Given the description of an element on the screen output the (x, y) to click on. 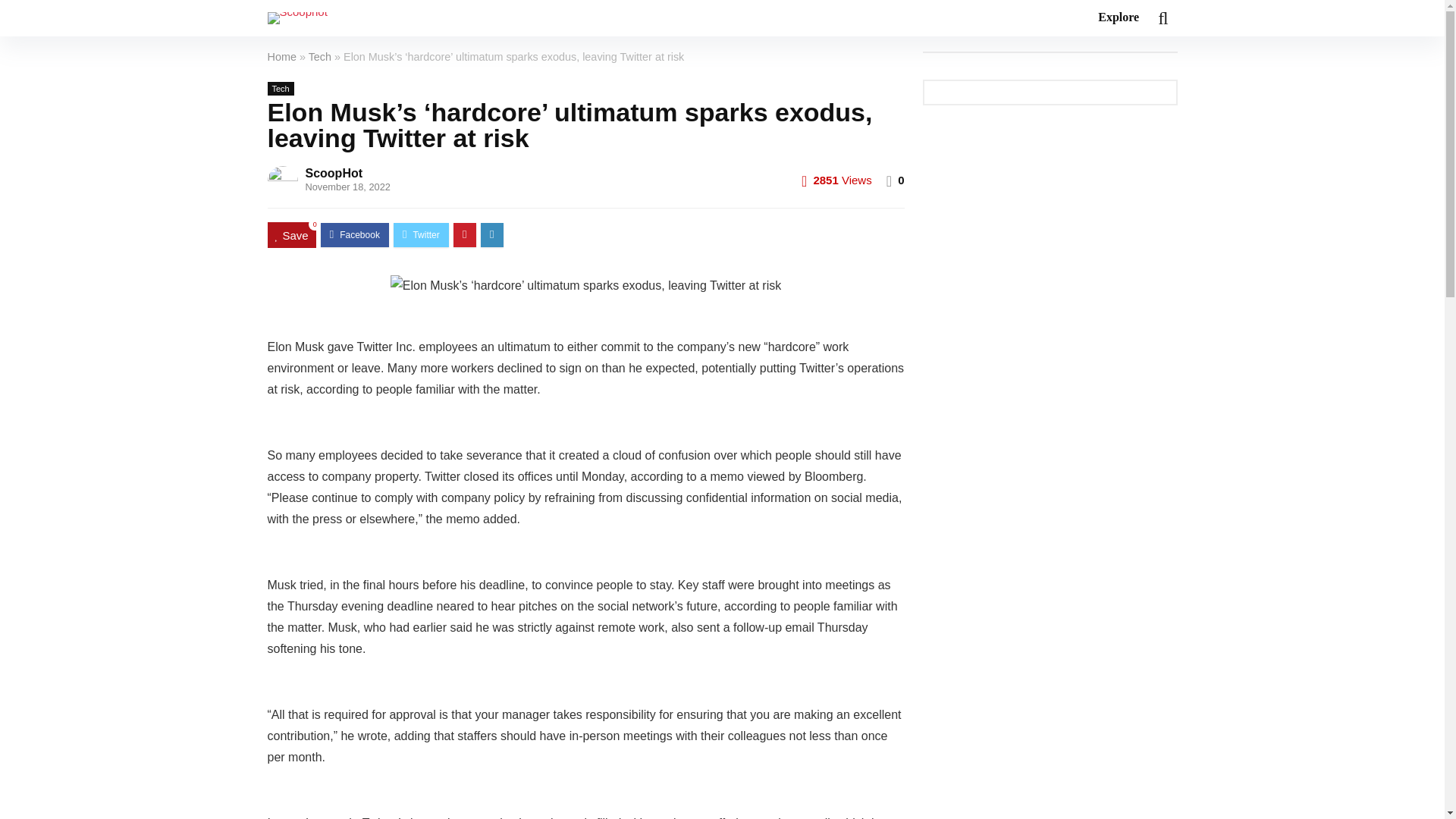
Tech (280, 88)
ScoopHot (333, 173)
Tech (319, 56)
View all posts in Tech (280, 88)
Explore (1117, 18)
Home (280, 56)
